Given the description of an element on the screen output the (x, y) to click on. 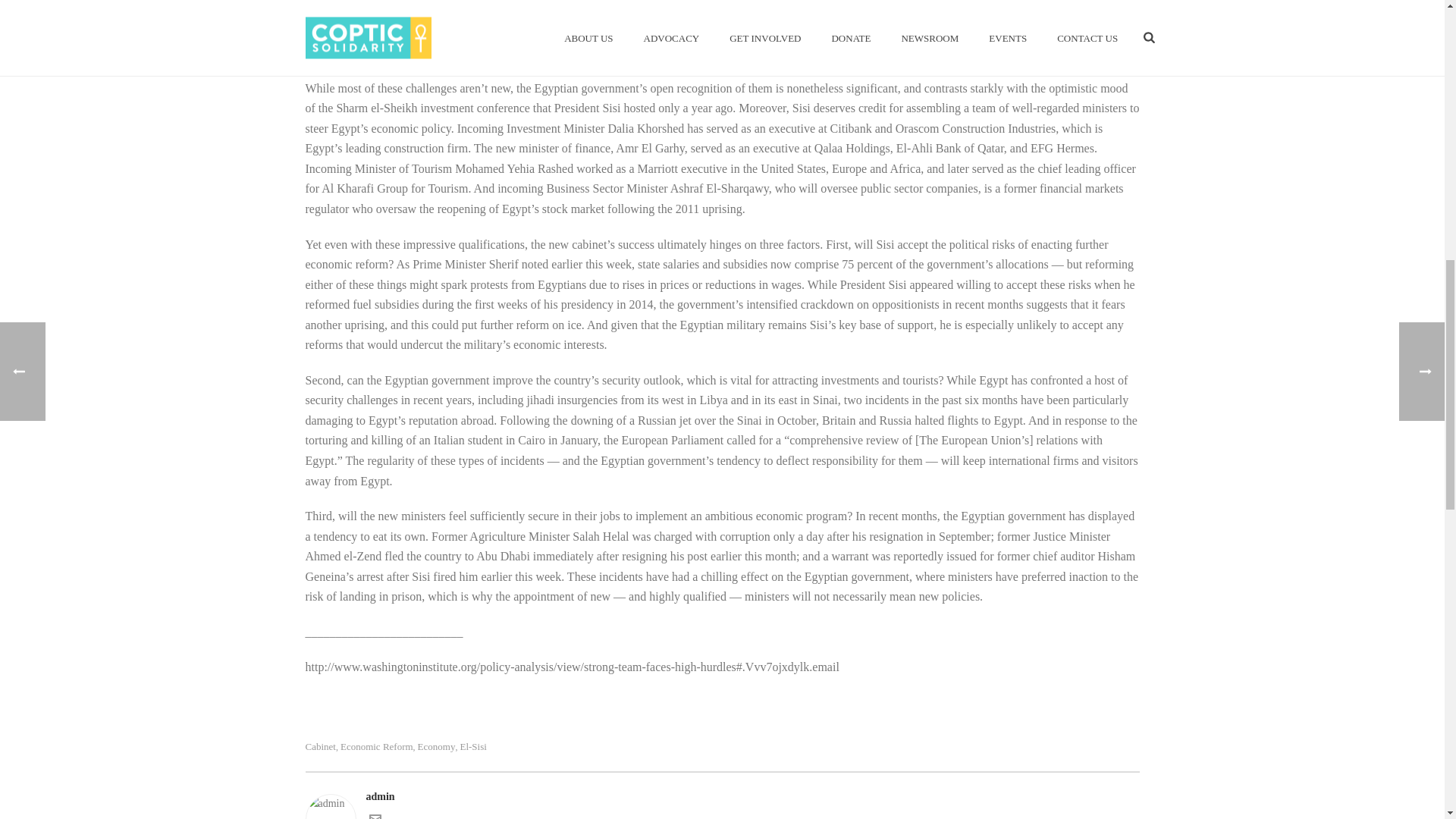
Get in touch with me via email (374, 817)
